Given the description of an element on the screen output the (x, y) to click on. 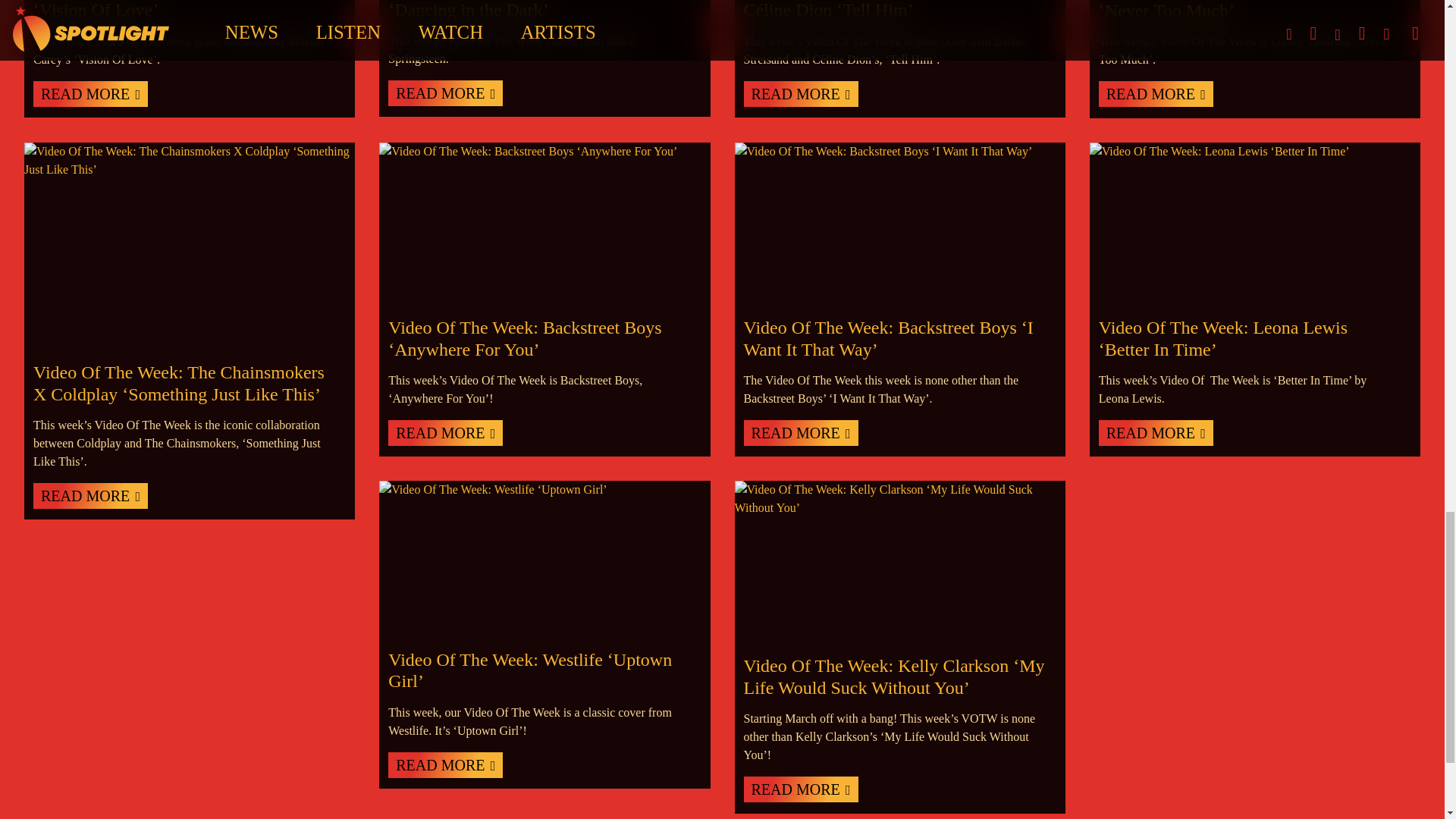
READ MORE (1155, 432)
READ MORE (90, 495)
READ MORE (1155, 94)
READ MORE (799, 432)
READ MORE (799, 789)
READ MORE (90, 94)
READ MORE (445, 432)
READ MORE (445, 93)
READ MORE (799, 94)
READ MORE (445, 765)
